Given the description of an element on the screen output the (x, y) to click on. 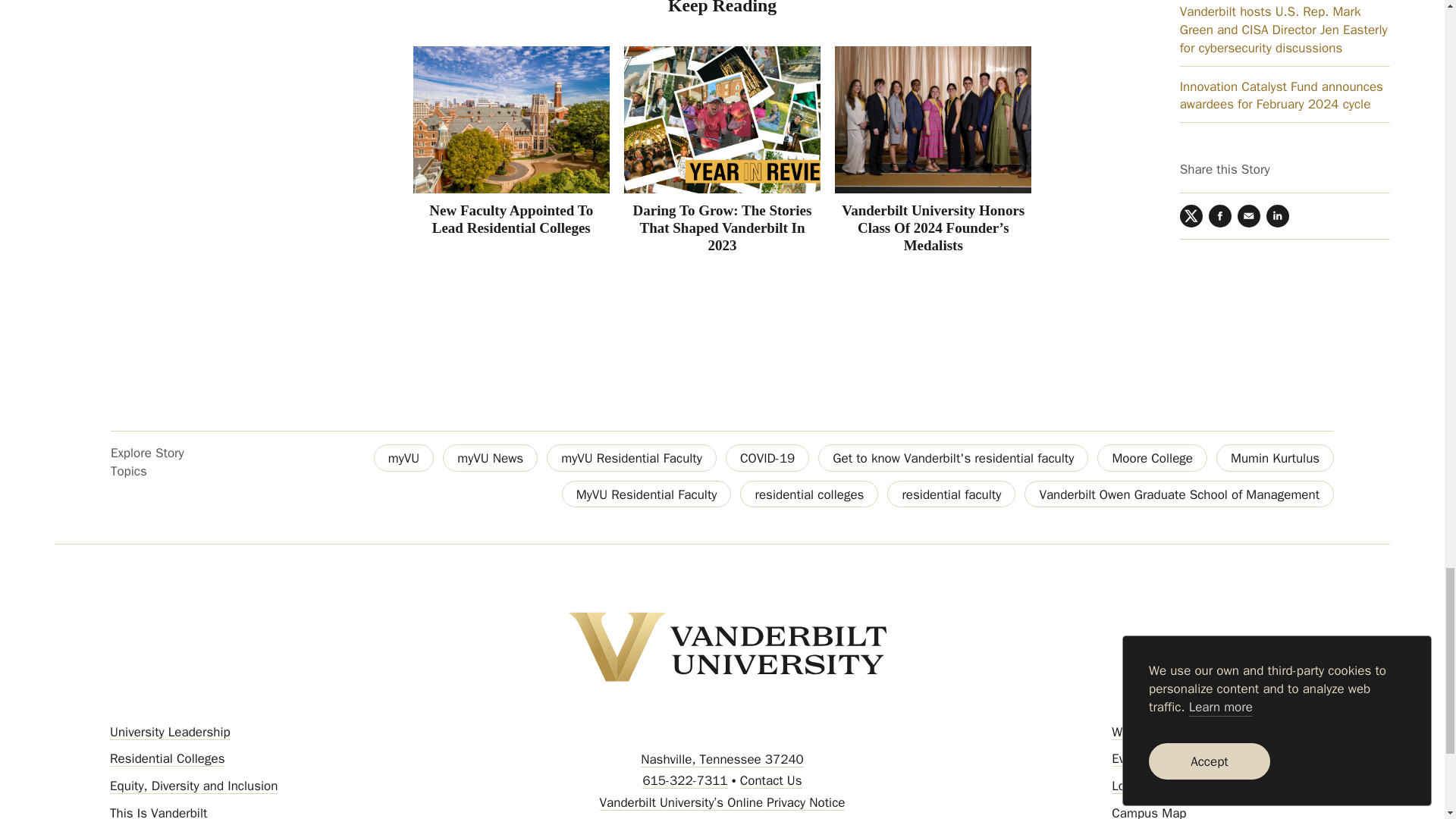
Daring To Grow: The Stories That Shaped Vanderbilt In 2023 (722, 227)
myVU News (489, 457)
myVU (403, 457)
New Faculty Appointed To Lead Residential Colleges (510, 218)
